Given the description of an element on the screen output the (x, y) to click on. 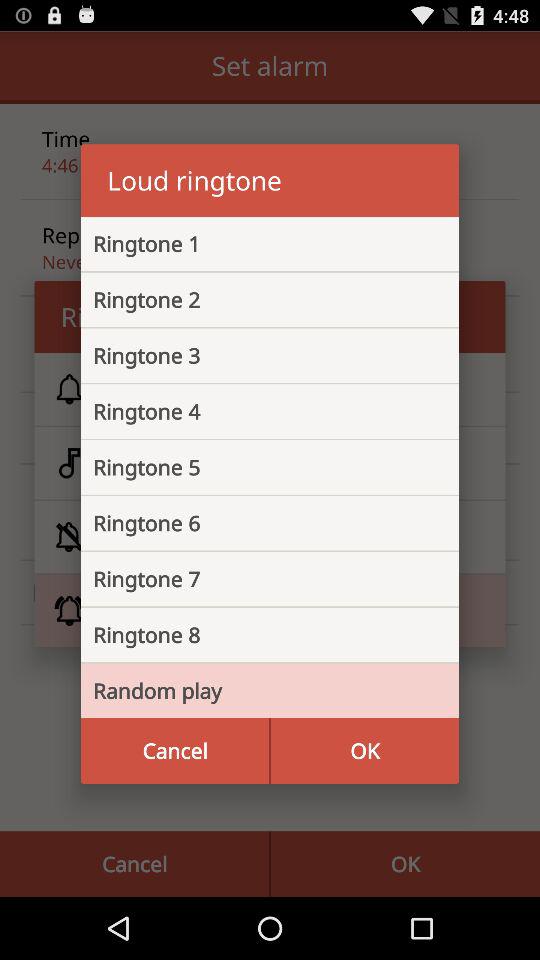
tap the icon below the ringtone 4 item (254, 467)
